Given the description of an element on the screen output the (x, y) to click on. 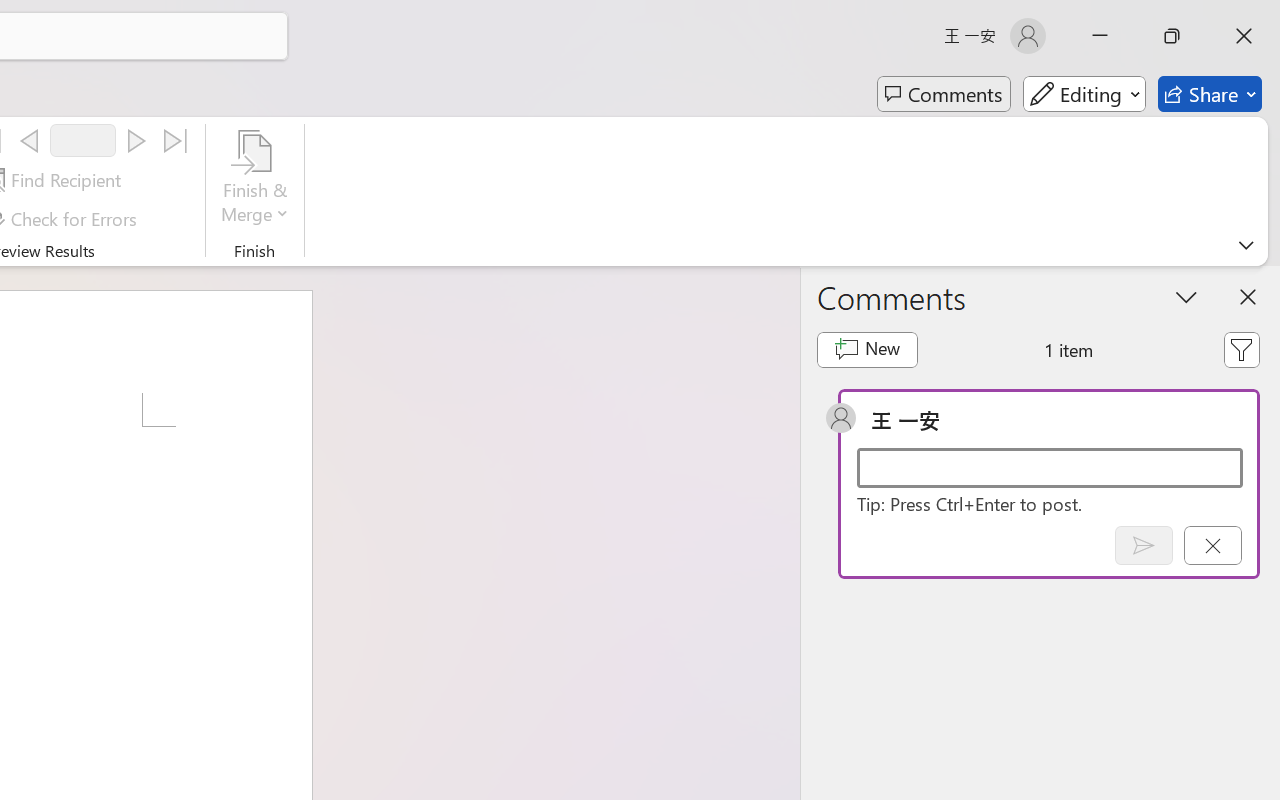
Last (175, 141)
Finish & Merge (255, 179)
Post comment (Ctrl + Enter) (1143, 545)
Previous (29, 141)
